Given the description of an element on the screen output the (x, y) to click on. 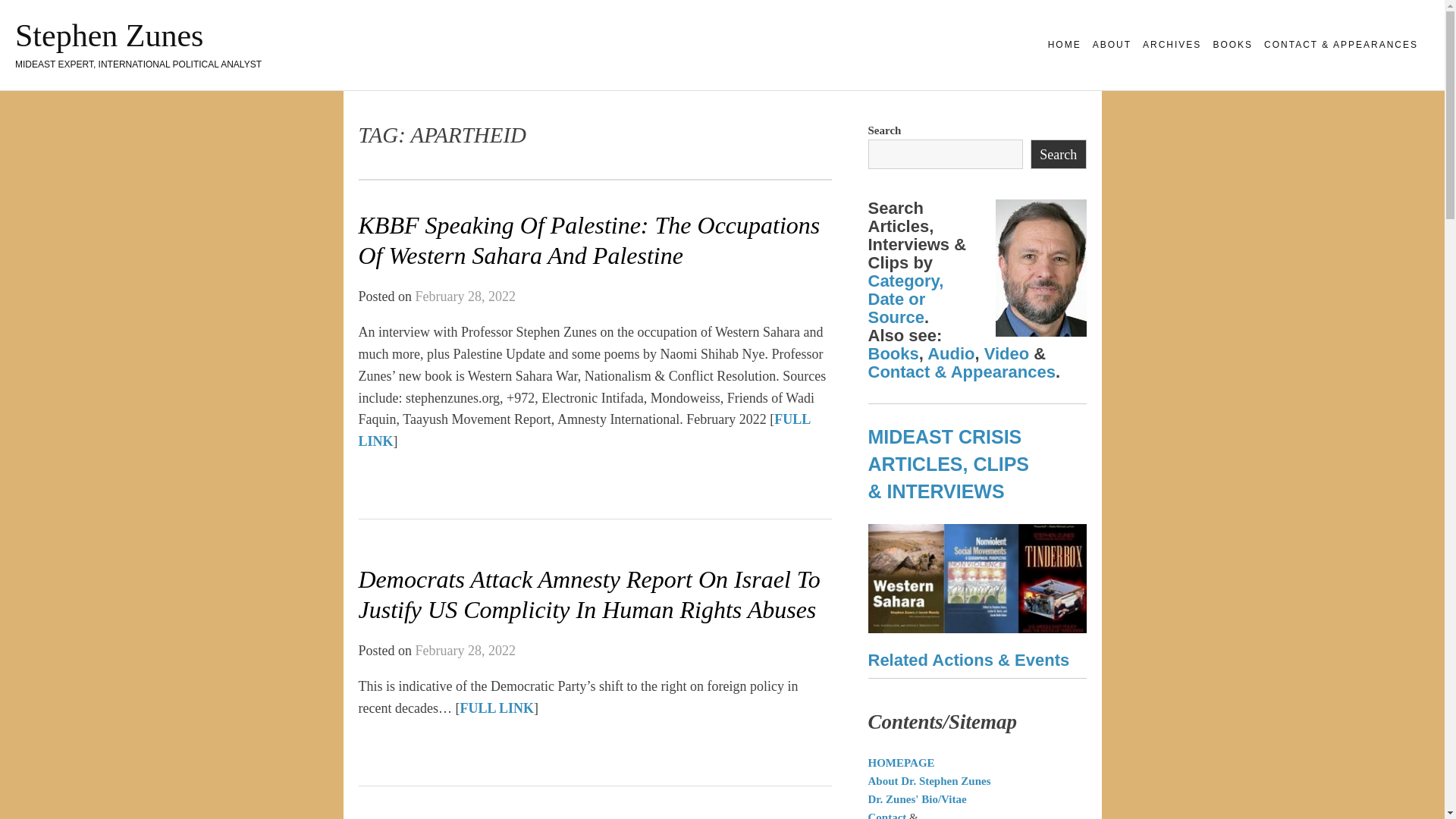
February 28, 2022 (464, 650)
Stephen Zunes (108, 35)
Books (892, 353)
FULL LINK (583, 429)
Video (1006, 353)
Search (1058, 153)
Audio (950, 353)
FULL LINK (497, 708)
